Given the description of an element on the screen output the (x, y) to click on. 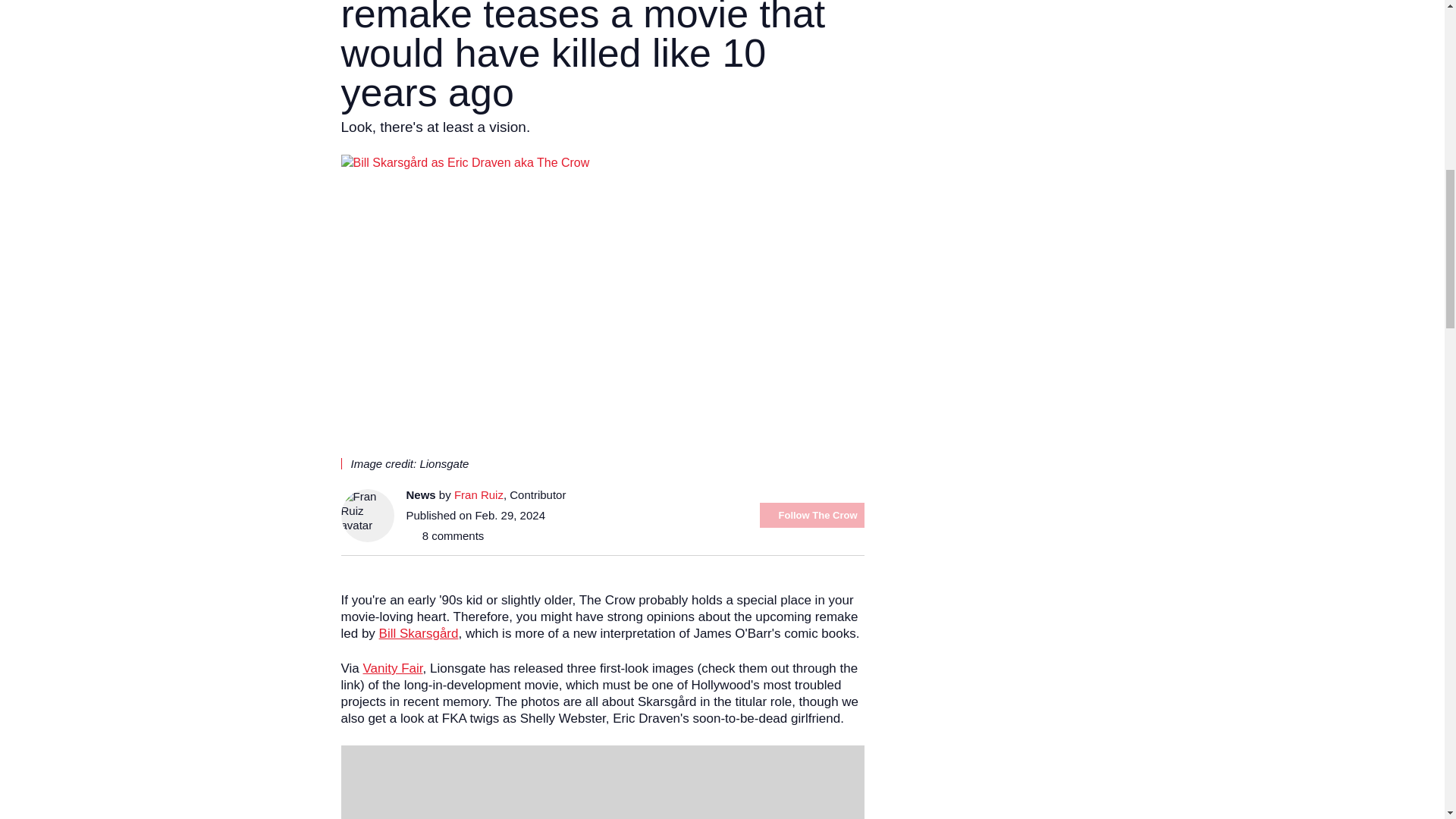
Vanity Fair (392, 667)
Follow The Crow (812, 514)
Fran Ruiz (478, 494)
Follow The Crow (812, 514)
8 comments (445, 535)
